Given the description of an element on the screen output the (x, y) to click on. 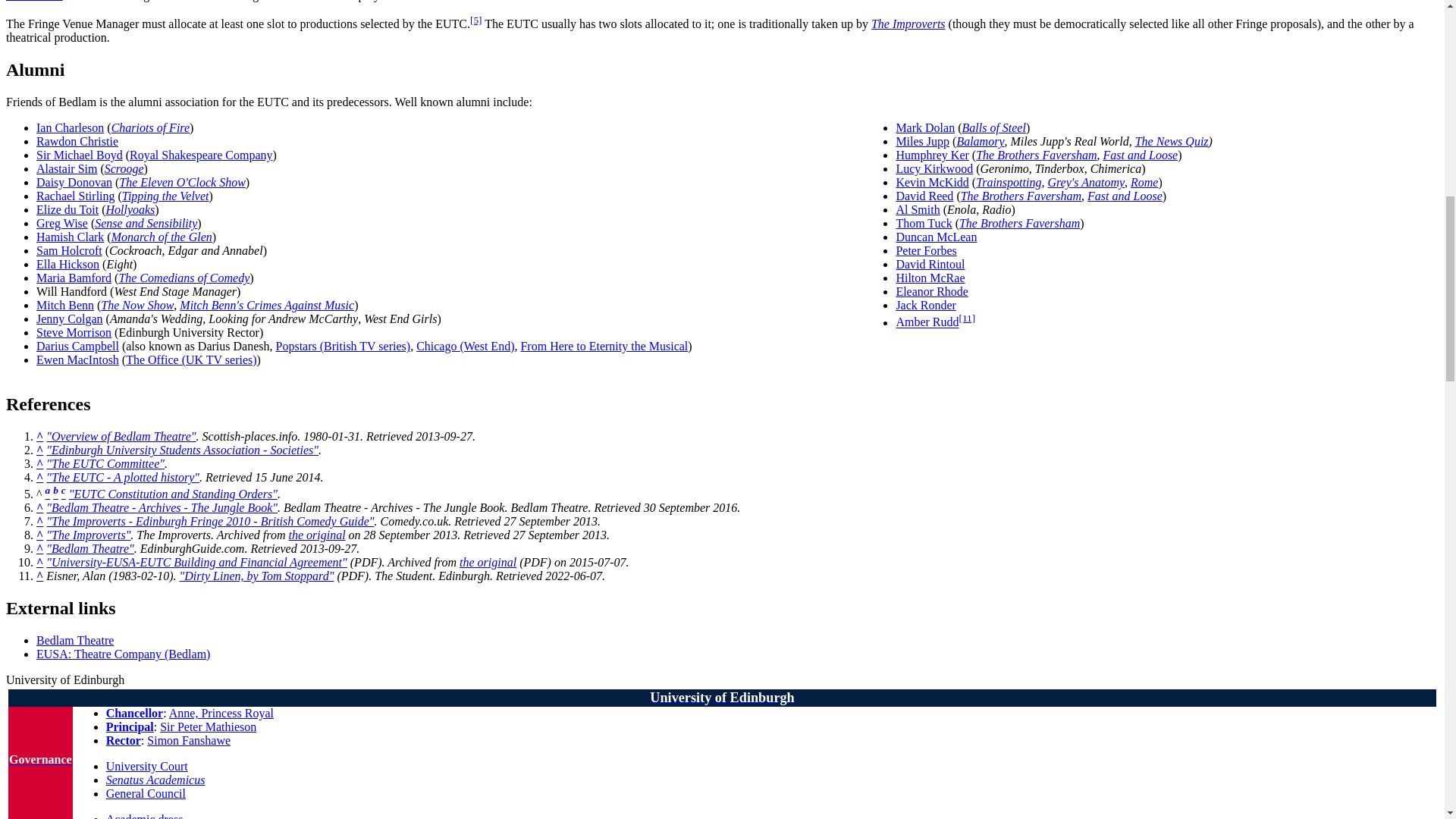
honorarium (33, 0)
The Improverts (907, 23)
